Given the description of an element on the screen output the (x, y) to click on. 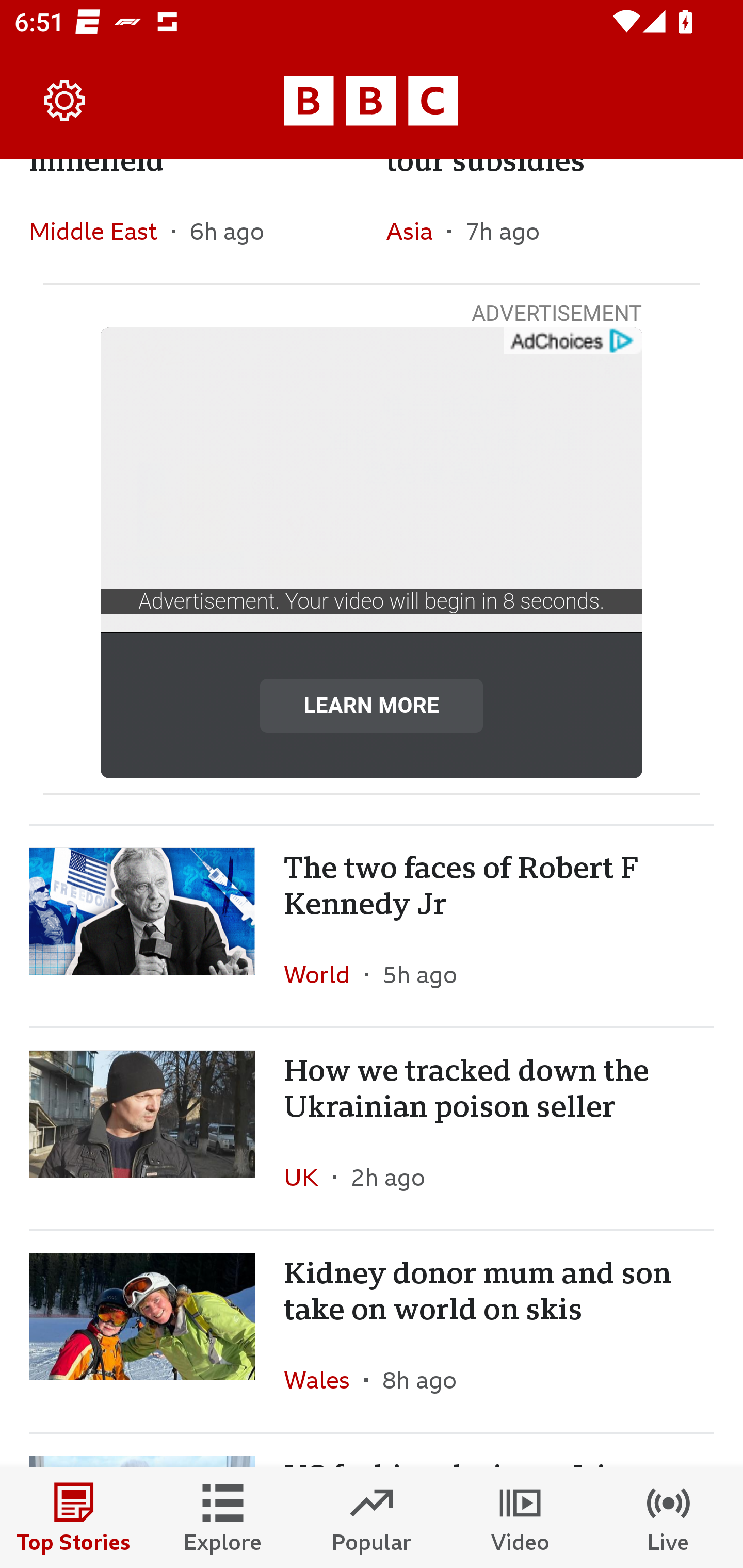
Settings (64, 100)
Middle East In the section Middle East (99, 230)
Asia In the section Asia (416, 230)
get?name=admarker-full-tl (571, 341)
LEARN MORE (371, 705)
World In the section World (323, 974)
UK In the section UK (307, 1176)
Wales In the section Wales (323, 1379)
Explore (222, 1517)
Popular (371, 1517)
Video (519, 1517)
Live (668, 1517)
